Given the description of an element on the screen output the (x, y) to click on. 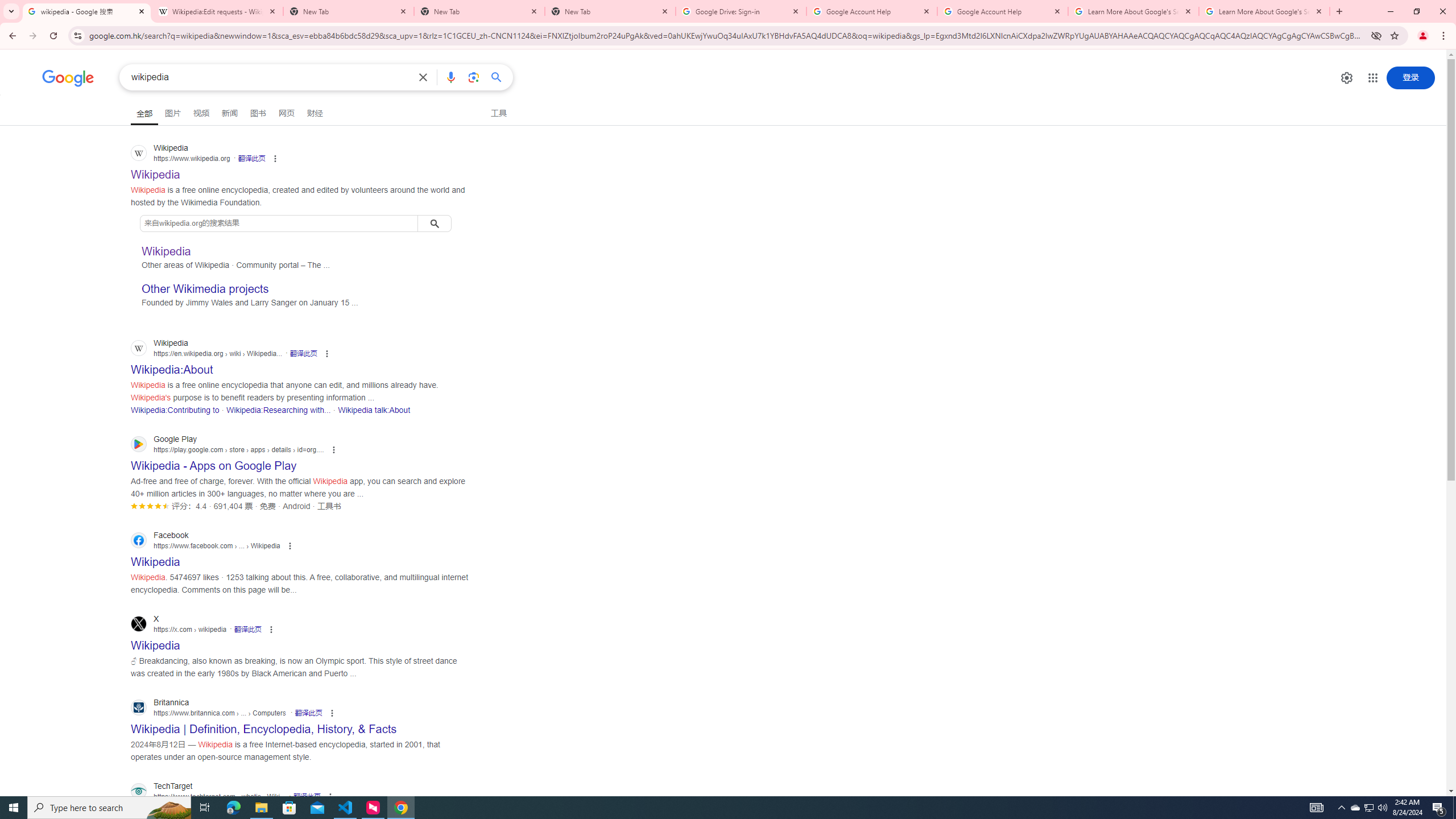
Restore (1416, 11)
New Tab (610, 11)
Close (1318, 11)
Address and search bar (726, 35)
Google (68, 78)
